Given the description of an element on the screen output the (x, y) to click on. 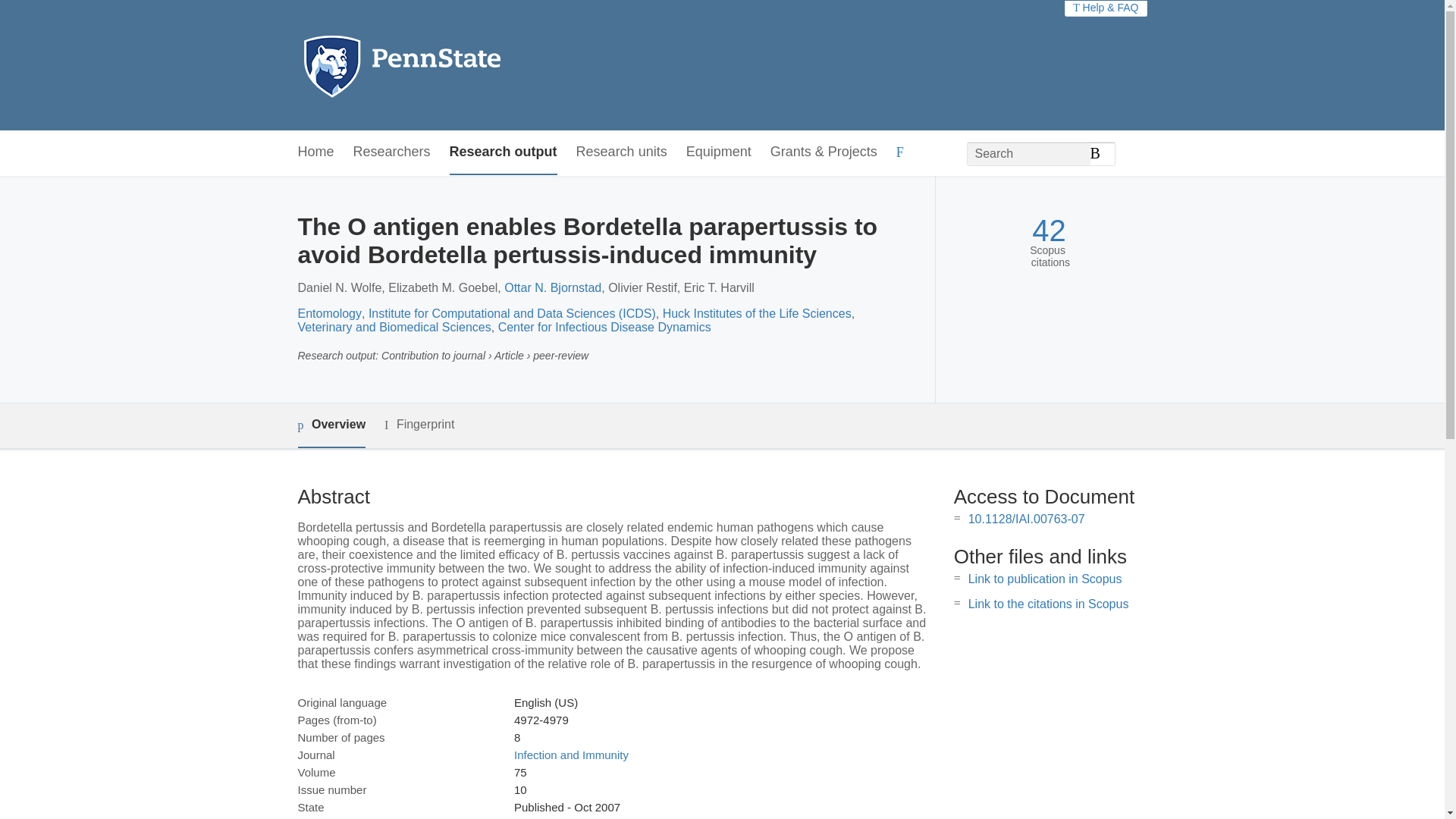
Research output (503, 152)
Penn State Home (467, 65)
Huck Institutes of the Life Sciences (756, 313)
Center for Infectious Disease Dynamics (604, 327)
Infection and Immunity (570, 754)
Ottar N. Bjornstad (552, 287)
Entomology (329, 313)
Research units (621, 152)
Fingerprint (419, 424)
Link to the citations in Scopus (1048, 603)
Link to publication in Scopus (1045, 578)
Veterinary and Biomedical Sciences (393, 327)
42 (1048, 230)
Overview (331, 425)
